Given the description of an element on the screen output the (x, y) to click on. 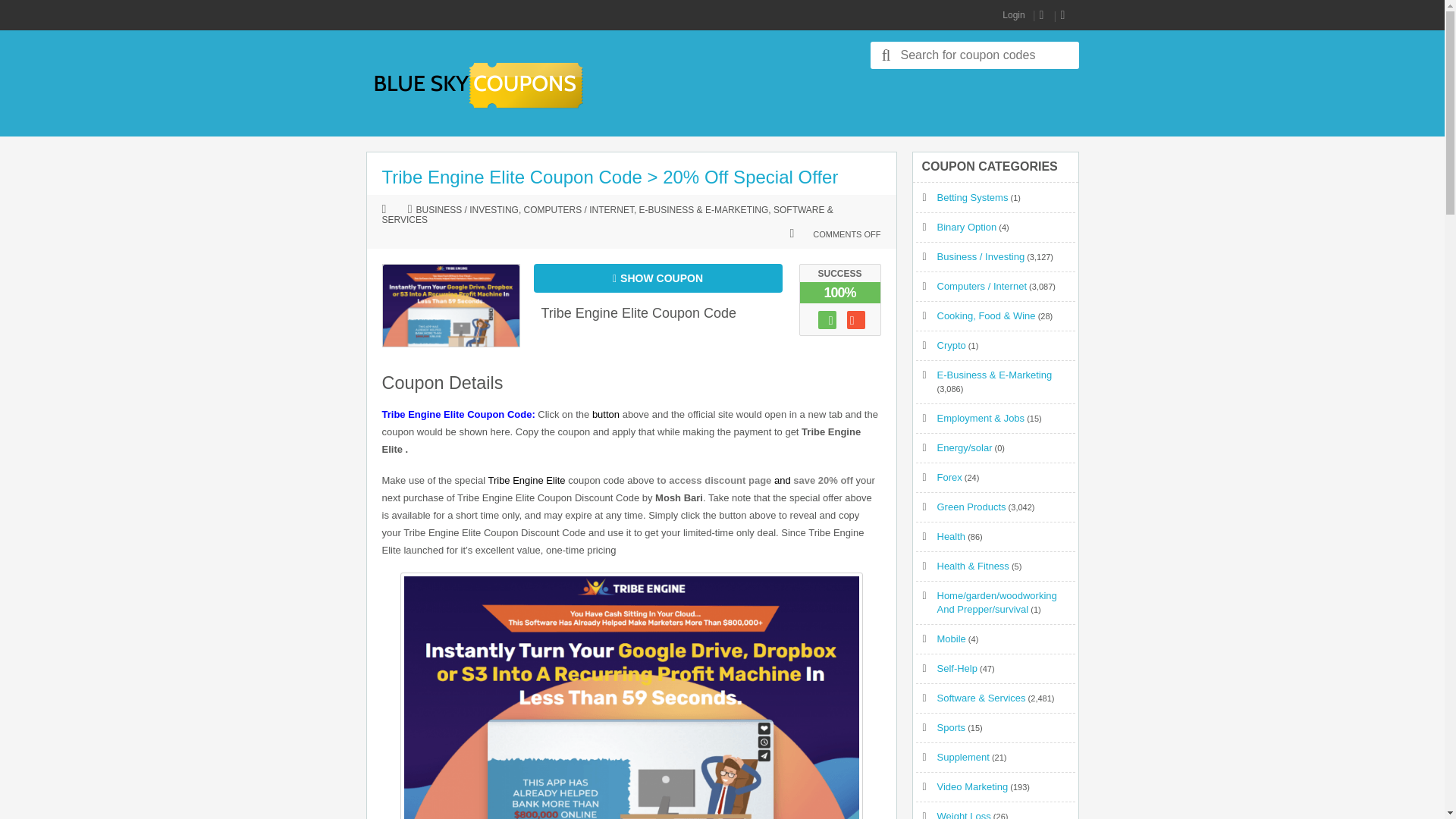
Betting Systems (973, 197)
Forex (949, 477)
SHOW COUPON (658, 277)
Login (1014, 14)
Tribe Engine Elite Coupon Code: (459, 414)
Tribe Engine Elite Coupon Code (638, 313)
Binary Option (967, 226)
Green Products (971, 506)
Health (951, 536)
Crypto (951, 345)
